Given the description of an element on the screen output the (x, y) to click on. 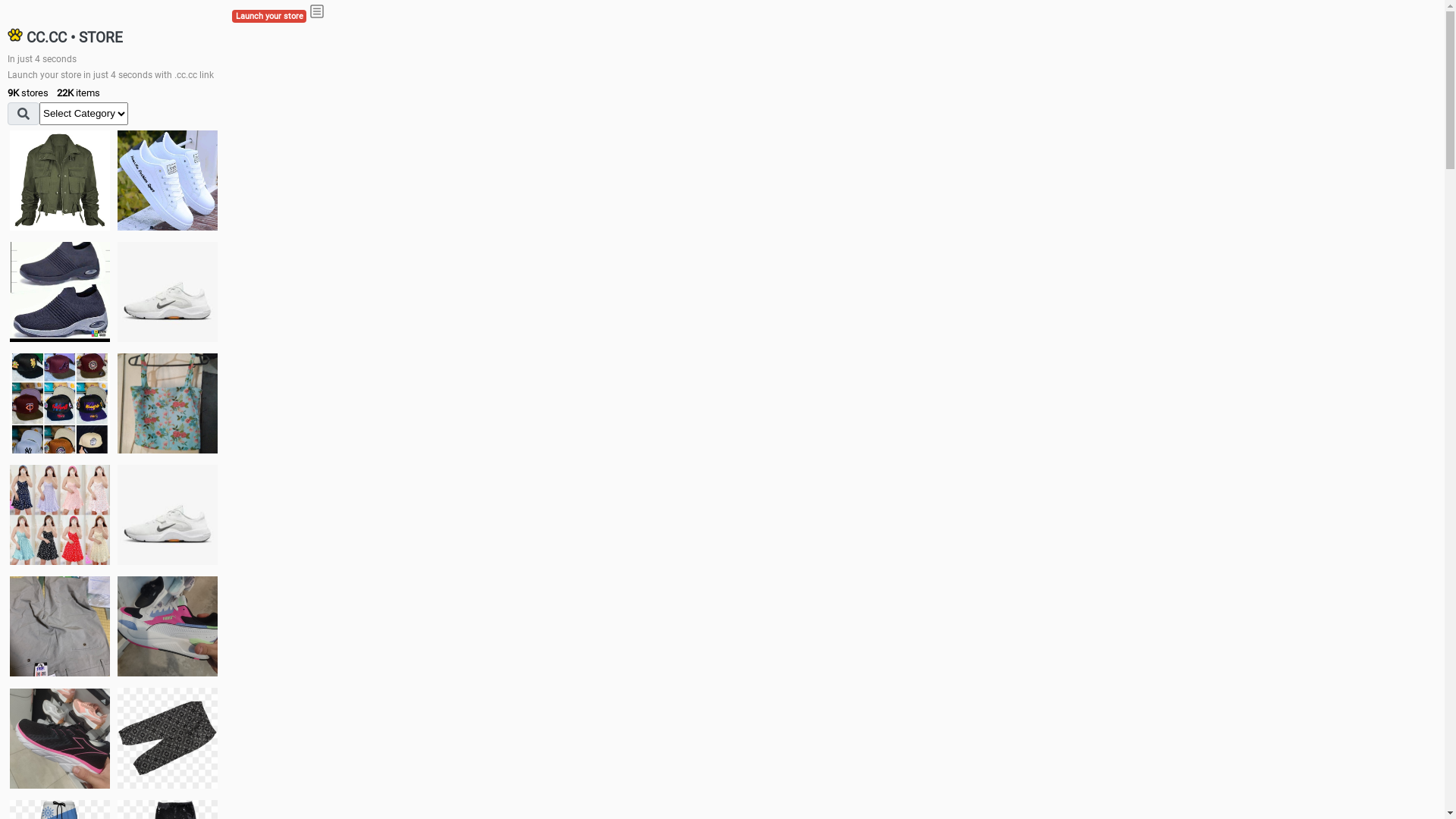
white shoes Element type: hover (167, 180)
shoes for boys Element type: hover (59, 291)
Shoes Element type: hover (167, 514)
Zapatillas Element type: hover (59, 738)
Launch your store Element type: text (269, 15)
Shoes for boys Element type: hover (167, 291)
Dress/square nect top Element type: hover (59, 514)
jacket Element type: hover (59, 180)
Ukay cloth Element type: hover (167, 403)
Zapatillas pumas Element type: hover (167, 626)
Things we need Element type: hover (59, 403)
Short pant Element type: hover (167, 737)
